Given the description of an element on the screen output the (x, y) to click on. 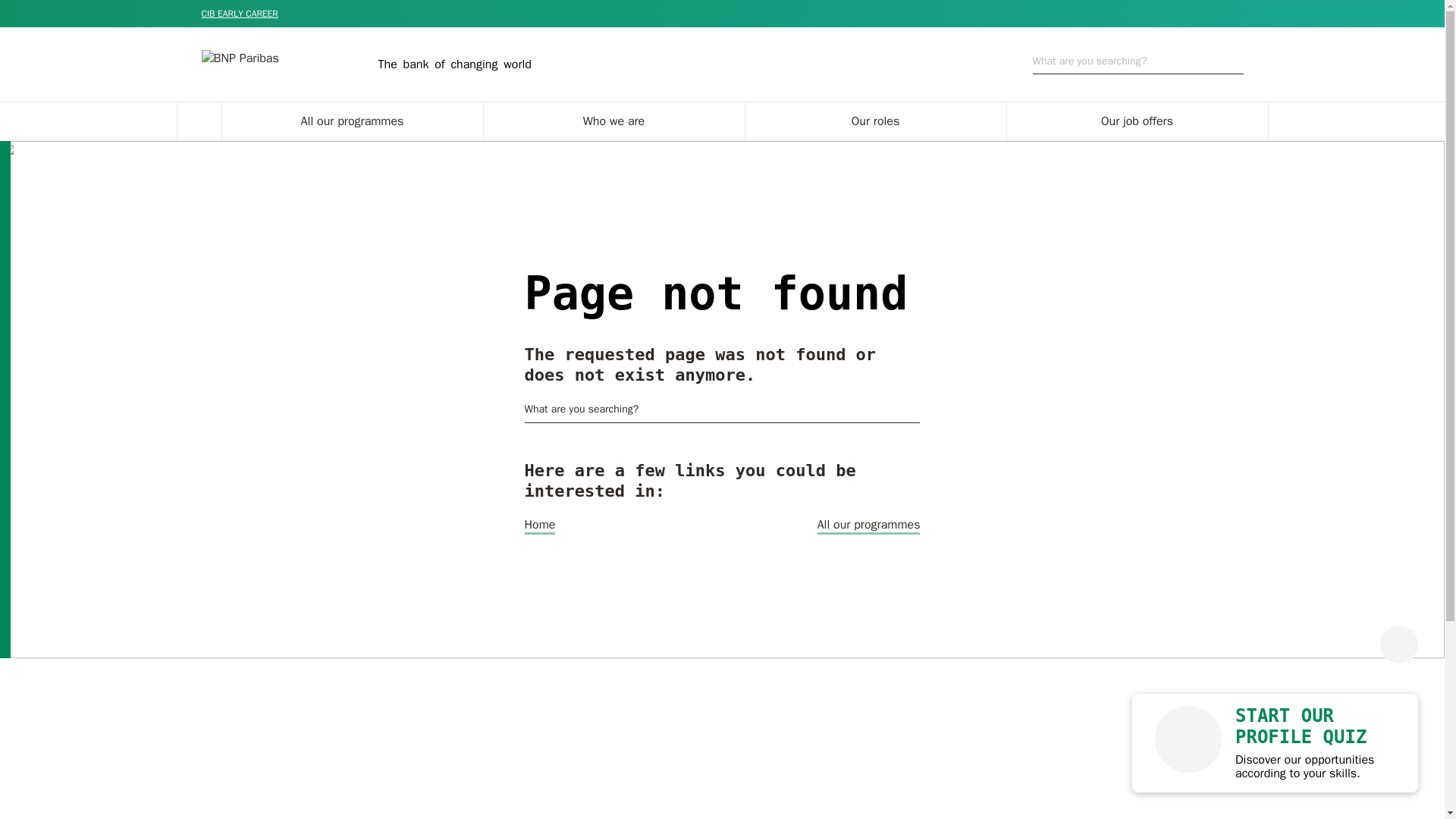
Go up (1399, 644)
Our job offers (1137, 121)
CIB Early Career - Homepage - BNP Paribas (240, 13)
Search (912, 409)
The bank of changing world (366, 63)
CIB EARLY CAREER (240, 13)
What are you searching? (1137, 63)
Who we are (613, 121)
Home (540, 525)
